Given the description of an element on the screen output the (x, y) to click on. 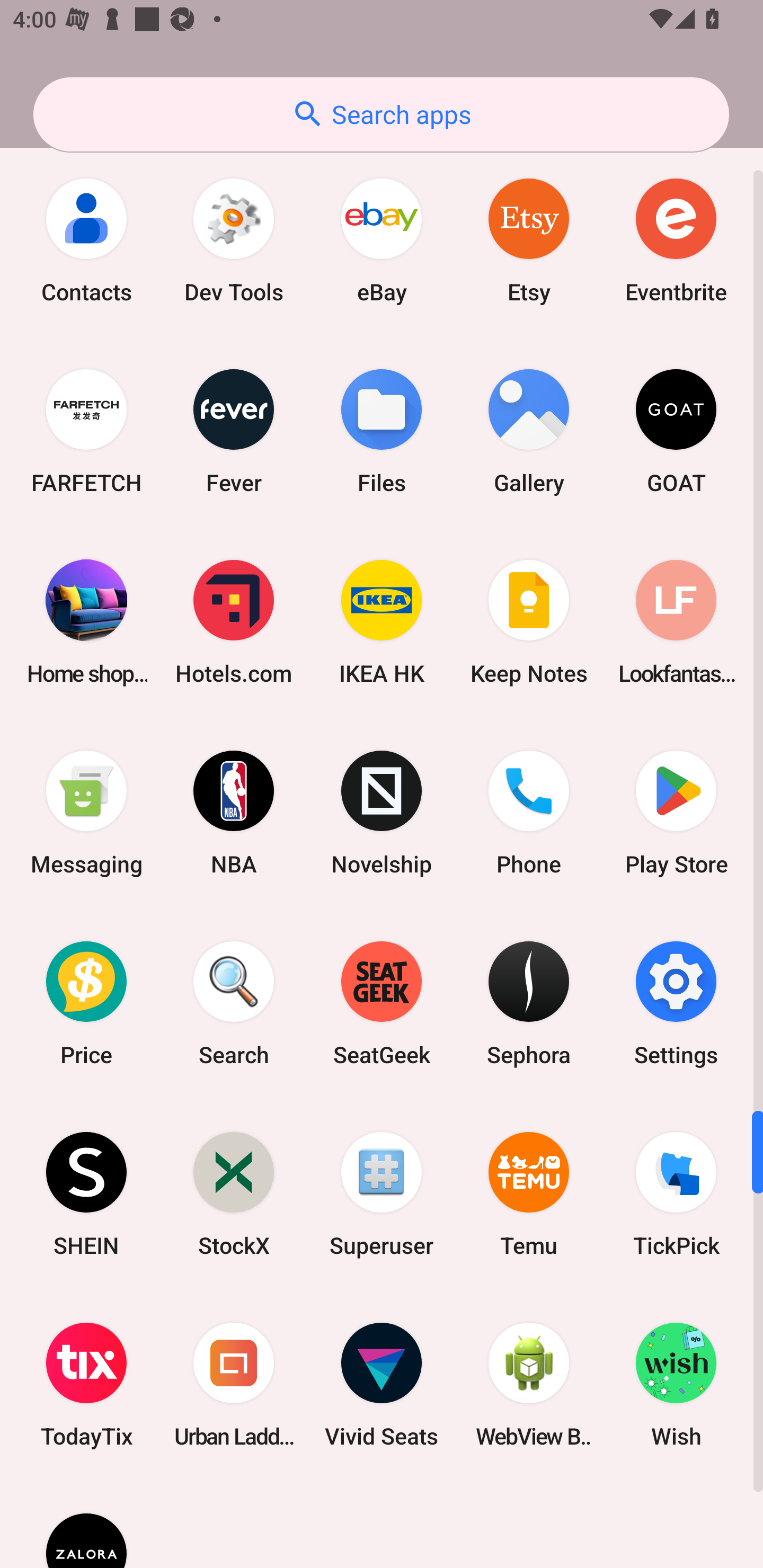
  Search apps (381, 114)
Contacts (86, 240)
Dev Tools (233, 240)
eBay (381, 240)
Etsy (528, 240)
Eventbrite (676, 240)
FARFETCH (86, 430)
Fever (233, 430)
Files (381, 430)
Gallery (528, 430)
GOAT (676, 430)
Home shopping (86, 621)
Hotels.com (233, 621)
IKEA HK (381, 621)
Keep Notes (528, 621)
Lookfantastic (676, 621)
Messaging (86, 811)
NBA (233, 811)
Novelship (381, 811)
Phone (528, 811)
Play Store (676, 811)
Price (86, 1003)
Search (233, 1003)
SeatGeek (381, 1003)
Sephora (528, 1003)
Settings (676, 1003)
SHEIN (86, 1193)
StockX (233, 1193)
Superuser (381, 1193)
Temu (528, 1193)
TickPick (676, 1193)
TodayTix (86, 1384)
Urban Ladder (233, 1384)
Vivid Seats (381, 1384)
WebView Browser Tester (528, 1384)
Wish (676, 1384)
